Given the description of an element on the screen output the (x, y) to click on. 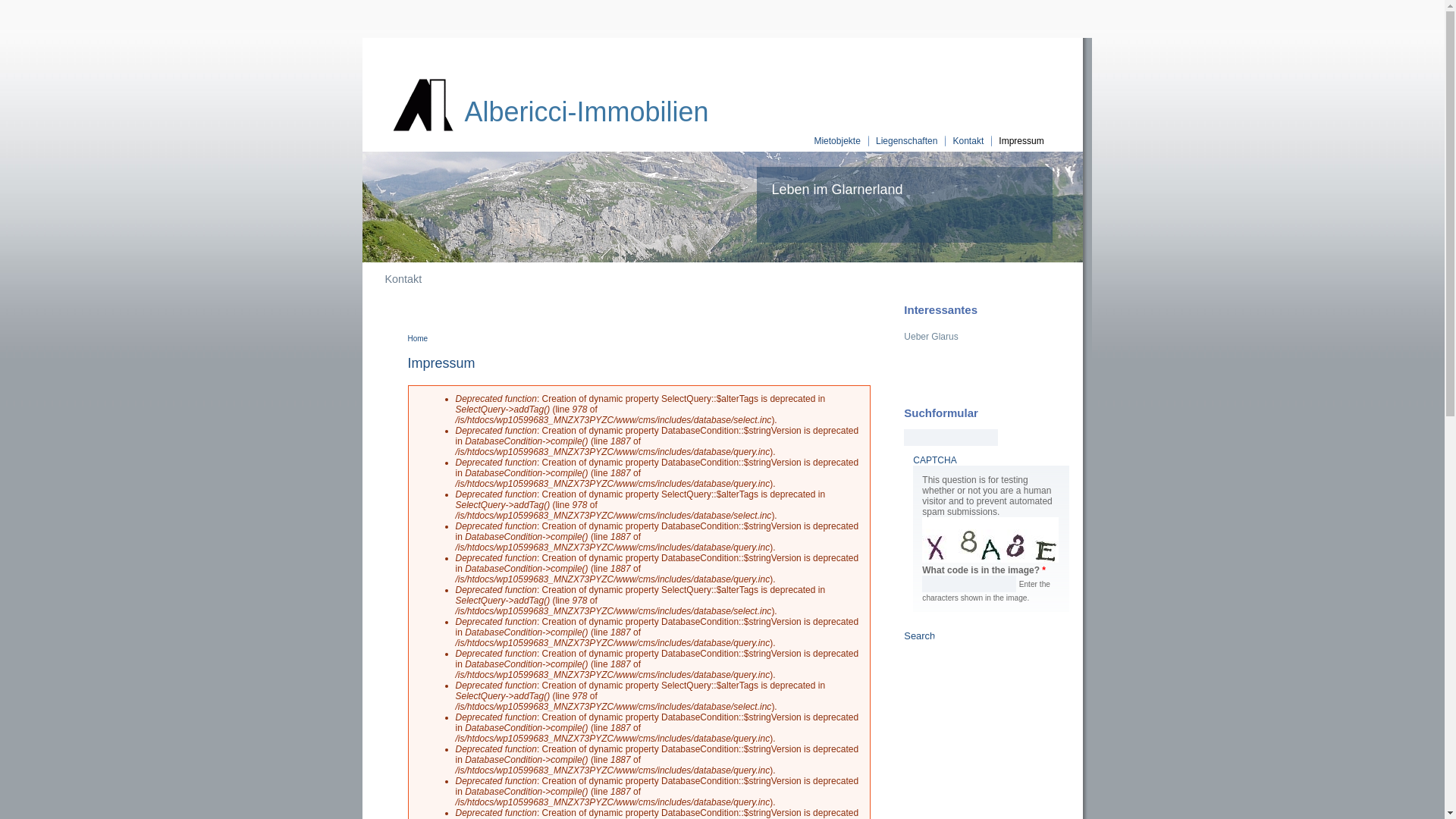
Search Element type: text (919, 635)
Image CAPTCHA Element type: hover (990, 539)
Ueber Glarus Element type: text (985, 336)
Enter the terms you wish to search for. Element type: hover (950, 437)
Impressum Element type: text (1020, 140)
Kontakt Element type: text (968, 140)
Kontakt Element type: text (403, 279)
Liegenschaften Element type: text (906, 140)
Mietobjekte Element type: text (836, 140)
Home Element type: text (417, 338)
